Given the description of an element on the screen output the (x, y) to click on. 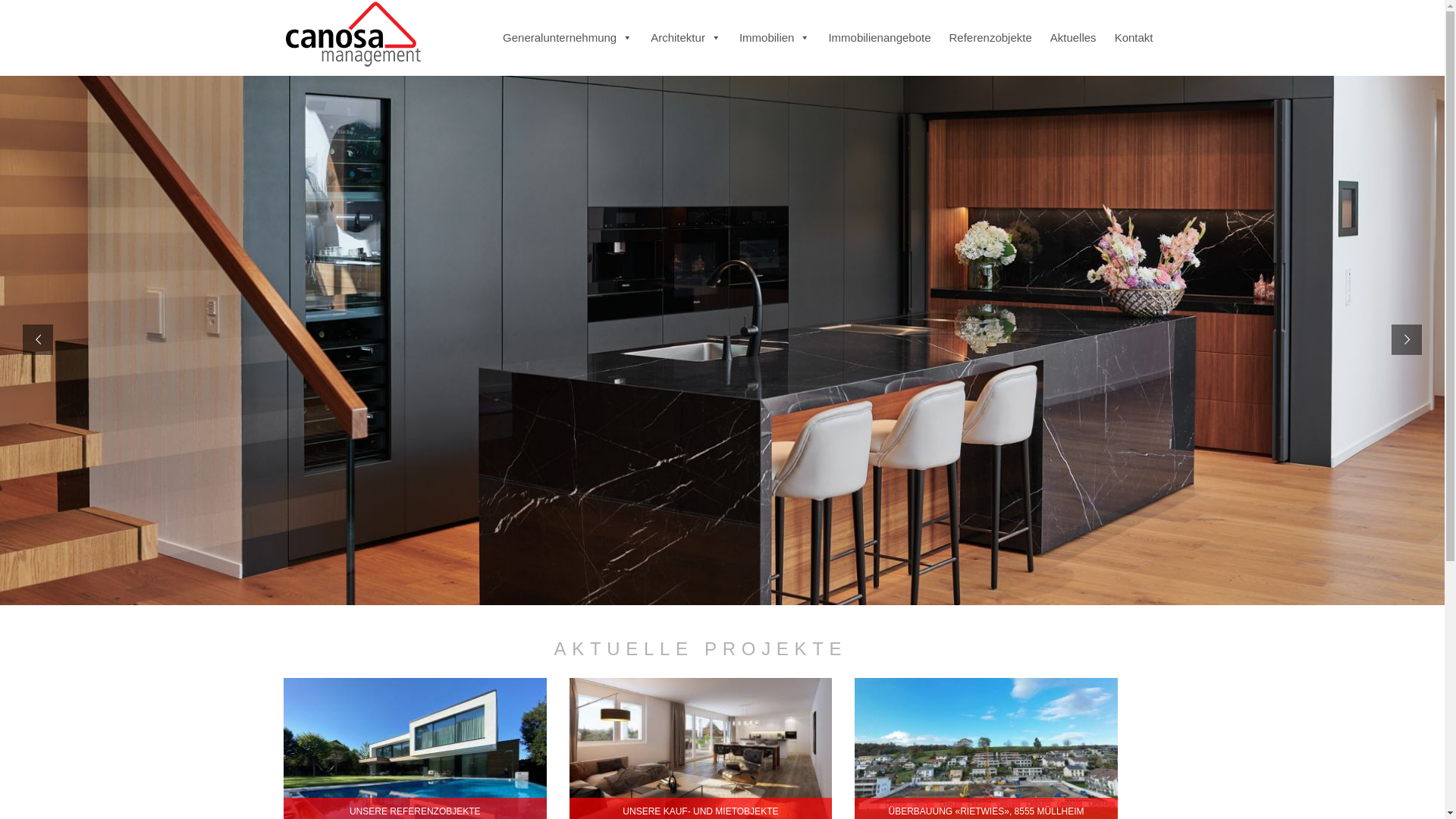
Aktuelles Element type: text (1073, 37)
Generalunternehmung Element type: text (567, 37)
Canosa Immobilien Element type: hover (352, 32)
Referenzobjekte Element type: text (990, 37)
Skip to content Element type: text (543, 11)
Immobilien Element type: text (774, 37)
Kontakt Element type: text (1133, 37)
Immobilienangebote Element type: text (879, 37)
Architektur Element type: text (685, 37)
